Given the description of an element on the screen output the (x, y) to click on. 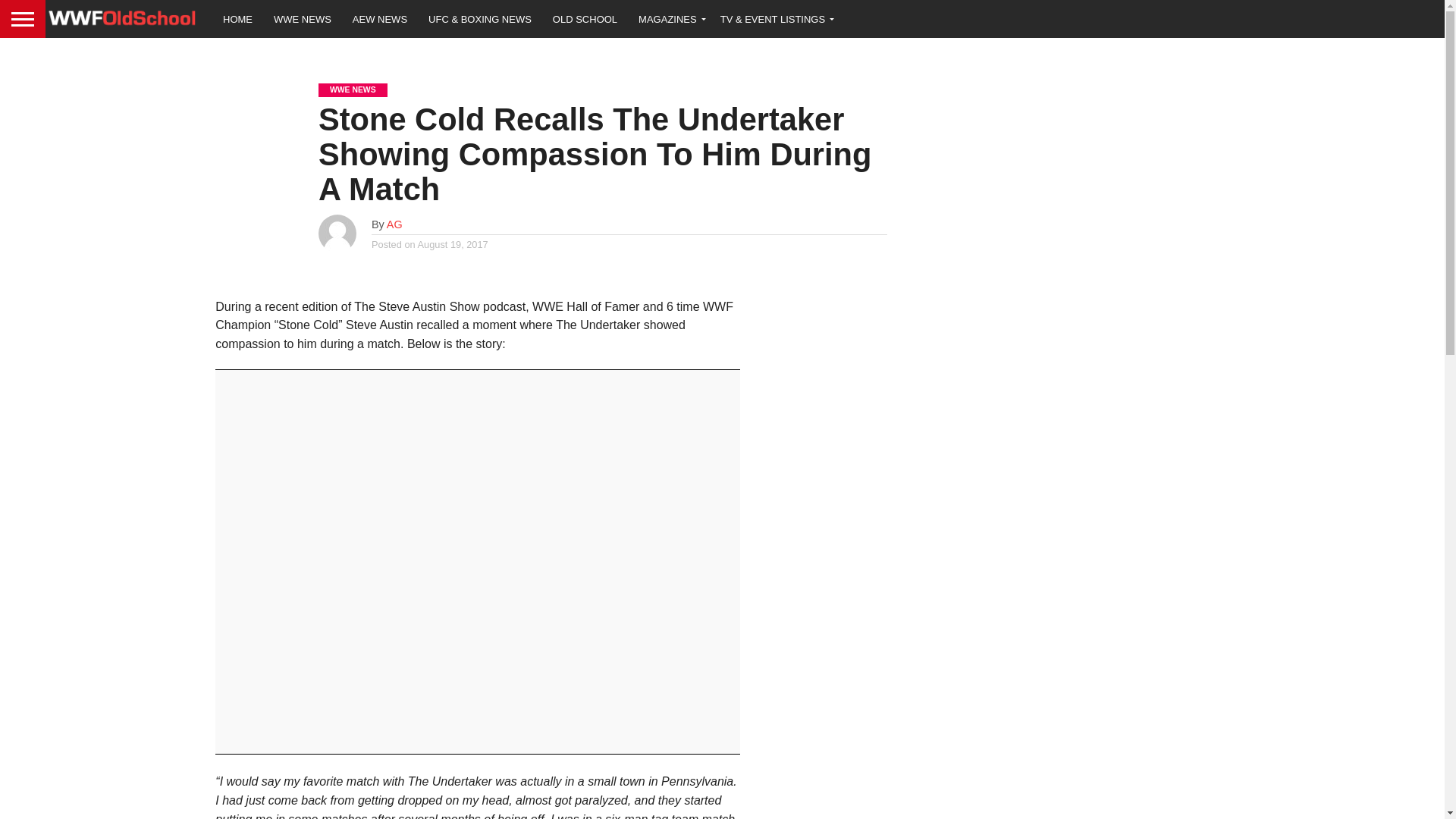
AEW NEWS (379, 18)
OLD SCHOOL (584, 18)
HOME (237, 18)
WWE NEWS (302, 18)
Posts by AG (395, 224)
MAGAZINES (668, 18)
